Given the description of an element on the screen output the (x, y) to click on. 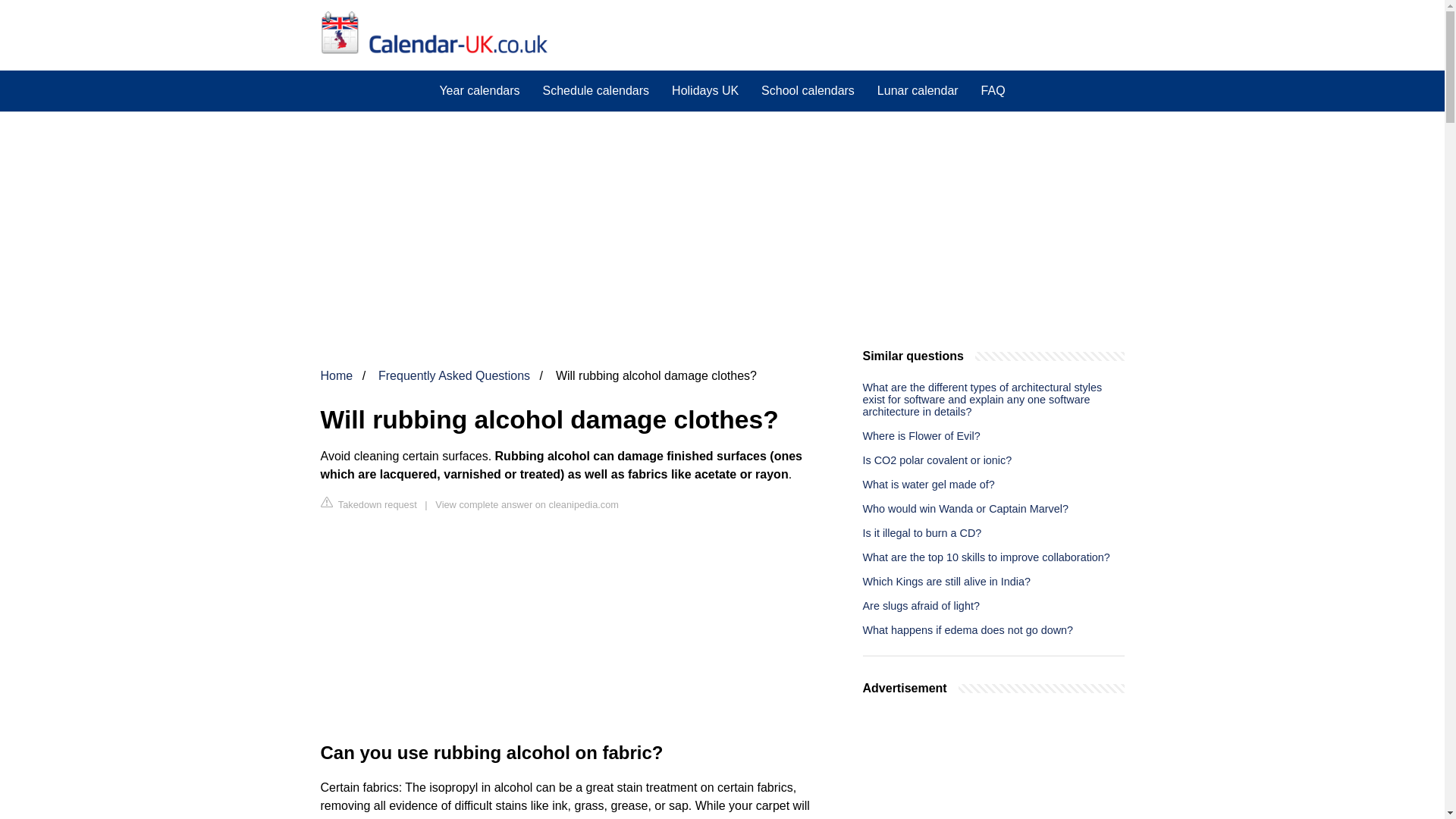
Holidays UK (705, 90)
Year calendars (479, 90)
Schedule calendars (596, 90)
View complete answer on cleanipedia.com (526, 504)
Home (336, 375)
Frequently Asked Questions (453, 375)
Lunar calendar (917, 90)
School calendars (807, 90)
Takedown request (368, 503)
FAQ (992, 90)
